Given the description of an element on the screen output the (x, y) to click on. 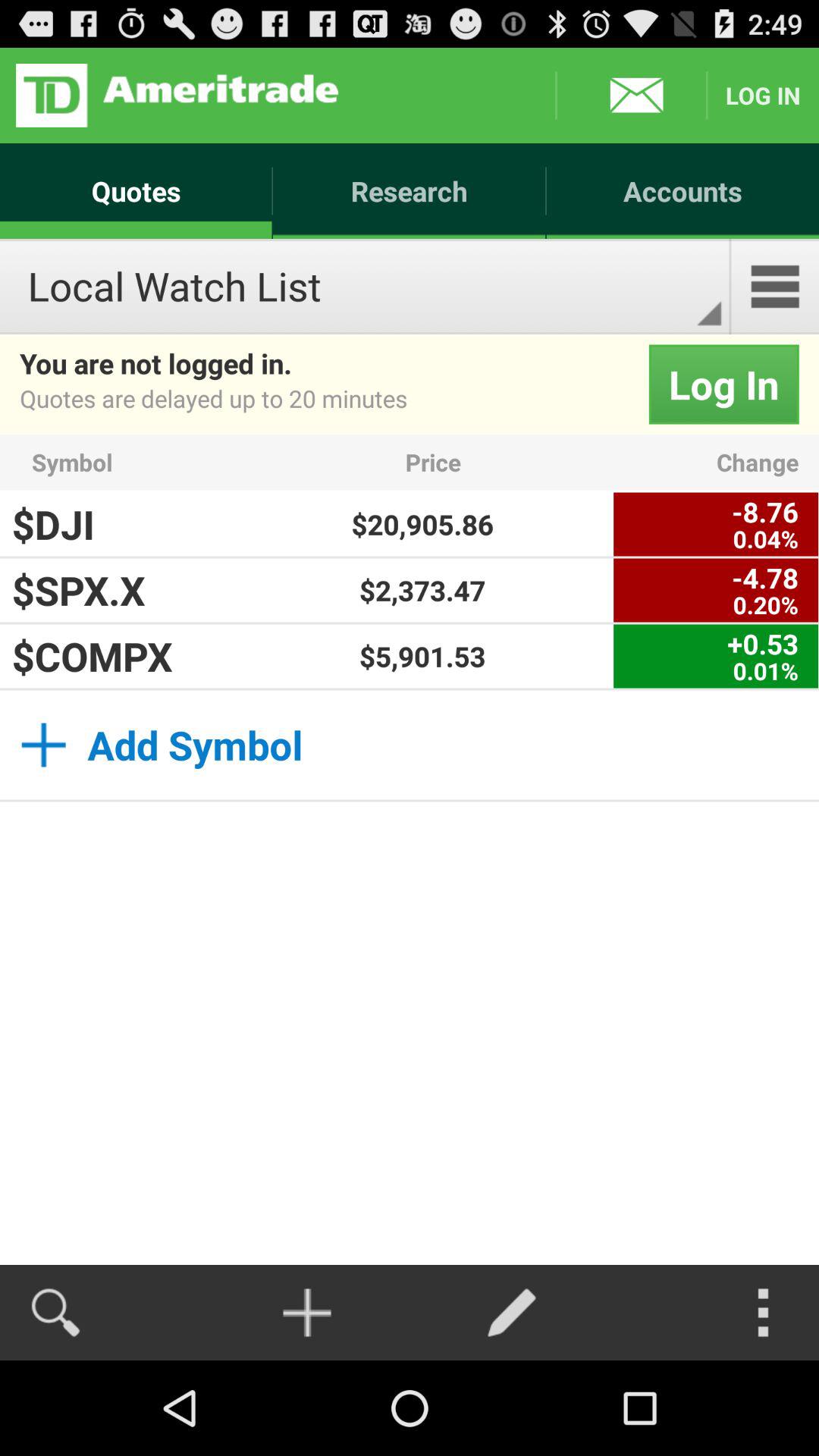
jump until $20,905.86 app (422, 524)
